Given the description of an element on the screen output the (x, y) to click on. 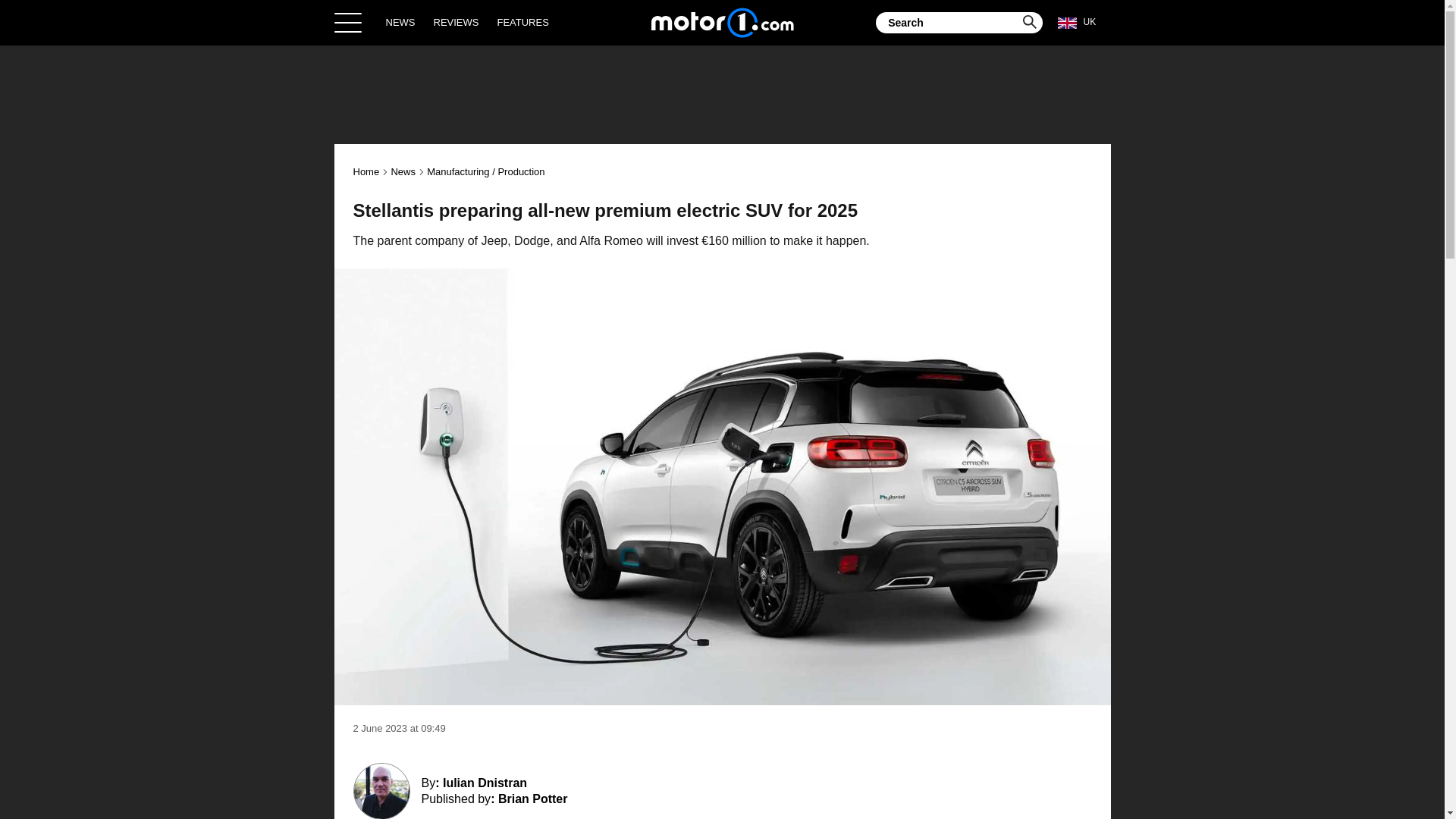
Home (721, 22)
Home (366, 171)
REVIEWS (456, 22)
FEATURES (522, 22)
NEWS (399, 22)
News (402, 171)
Brian Potter (532, 798)
